Given the description of an element on the screen output the (x, y) to click on. 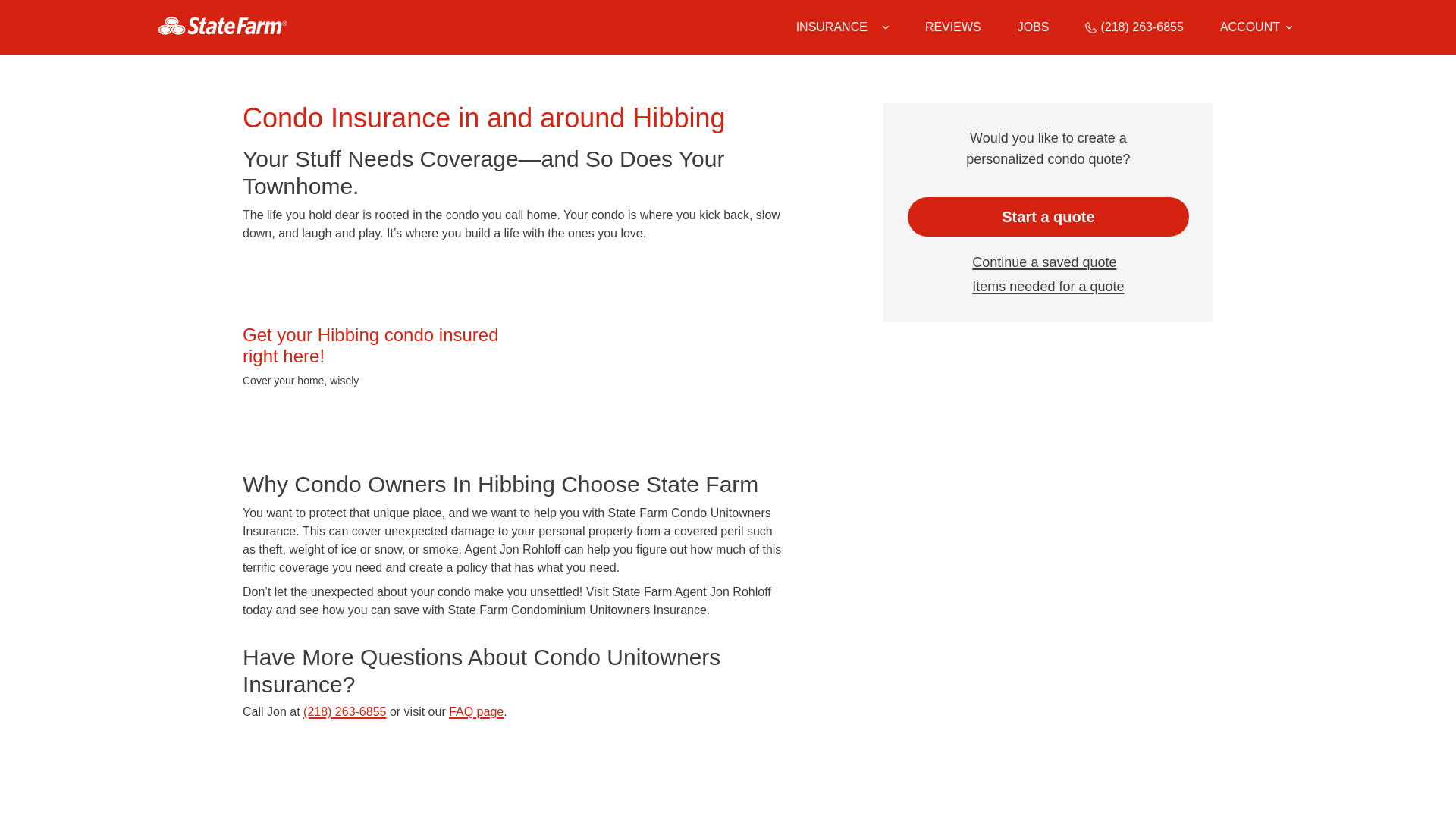
Insurance (842, 27)
FAQ page (475, 711)
Account Options (1256, 27)
JOBS (1033, 27)
REVIEWS (952, 27)
INSURANCE (831, 27)
ACCOUNT (1256, 27)
